Given the description of an element on the screen output the (x, y) to click on. 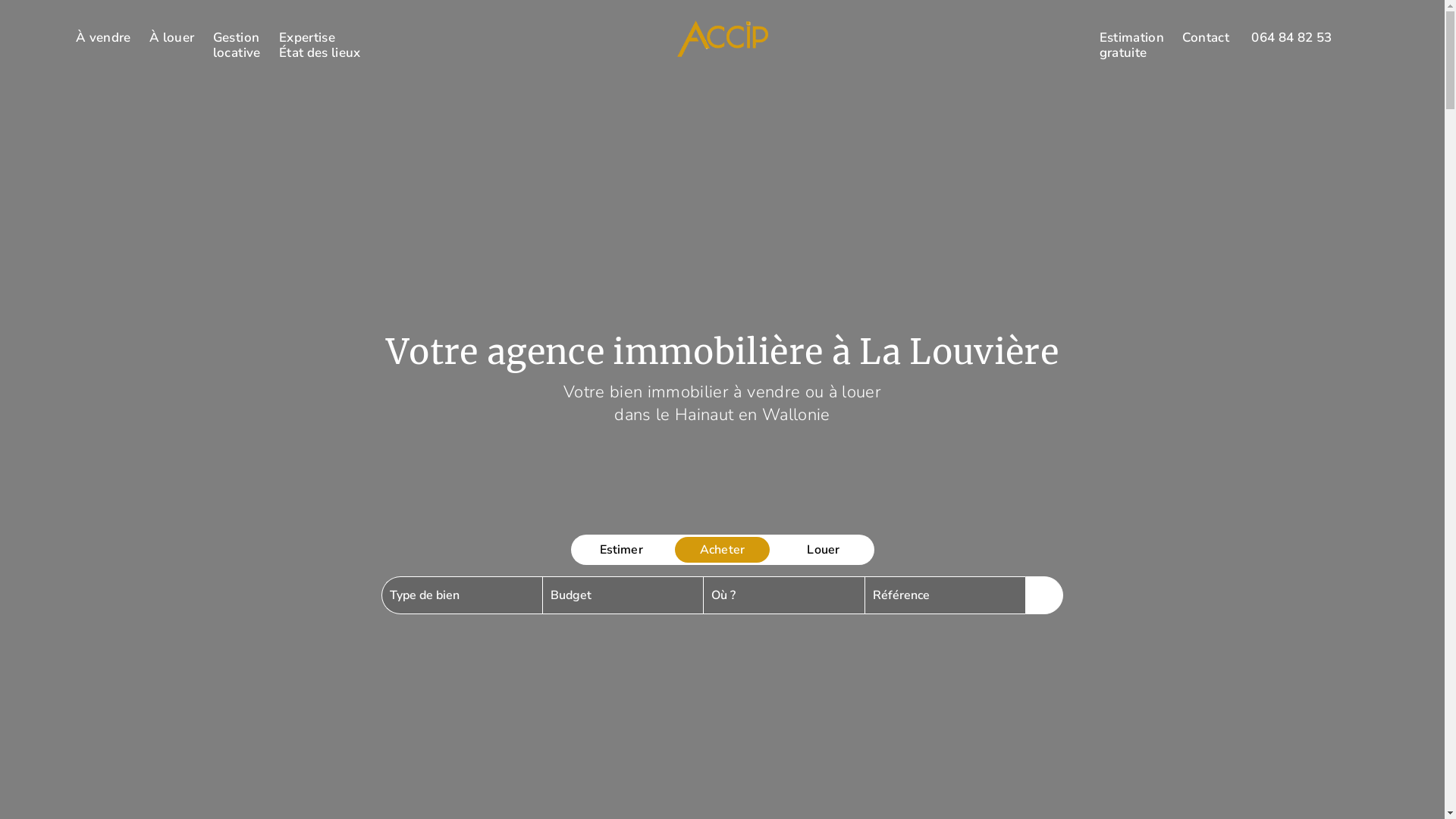
Contact Element type: text (1205, 37)
Estimation
gratuite Element type: text (1131, 45)
Estimer Element type: text (620, 549)
Gestion
locative Element type: text (236, 45)
064 84 82 53 Element type: text (1291, 37)
